Given the description of an element on the screen output the (x, y) to click on. 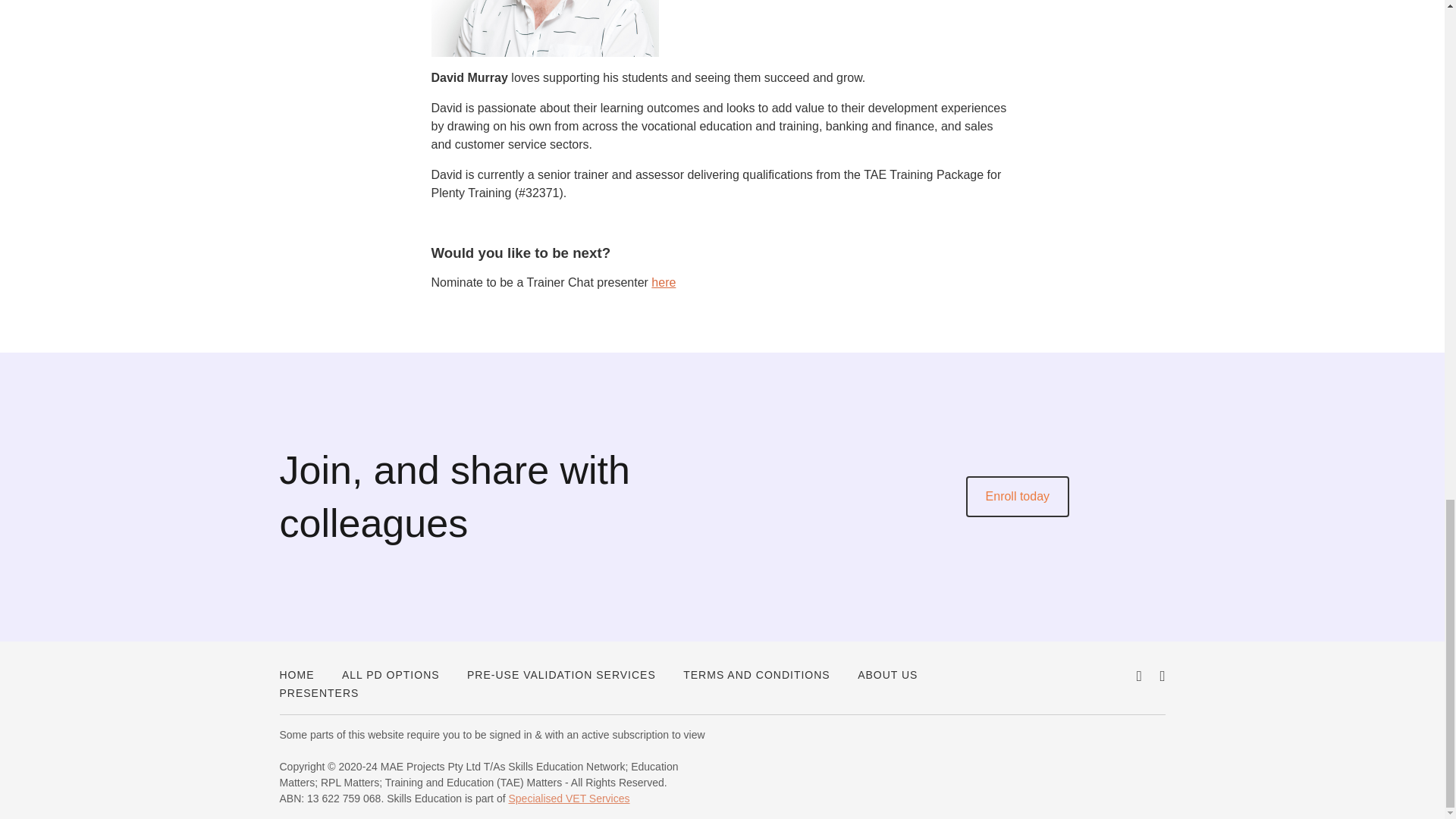
HOME (296, 675)
PRESENTERS (318, 693)
ABOUT US (887, 675)
PRE-USE VALIDATION SERVICES (561, 675)
here (662, 282)
ALL PD OPTIONS (390, 675)
TERMS AND CONDITIONS (755, 675)
Specialised VET Services (568, 798)
Enroll today (1018, 495)
